Given the description of an element on the screen output the (x, y) to click on. 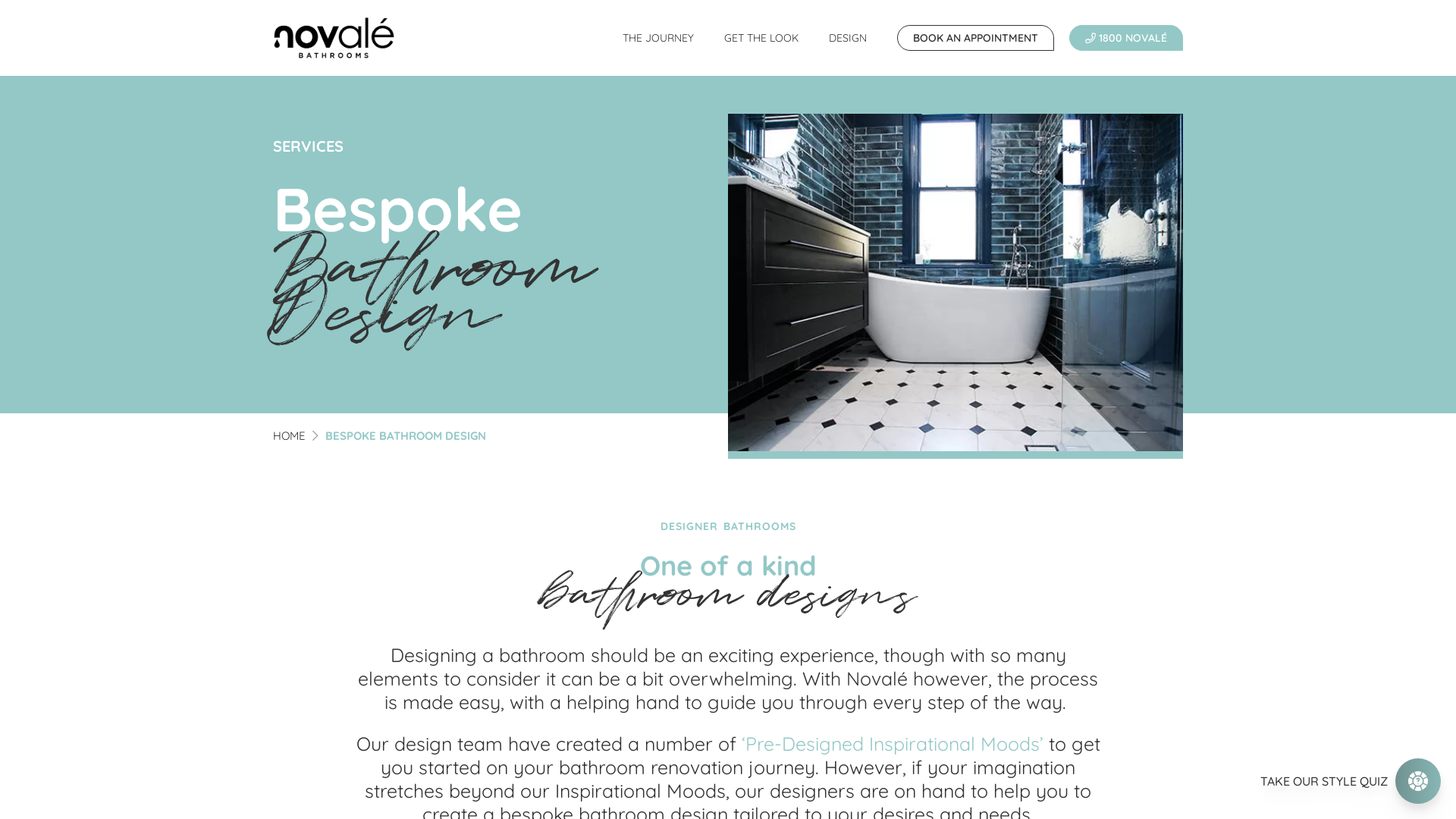
GET THE LOOK Element type: text (761, 37)
THE JOURNEY Element type: text (658, 37)
BOOK AN APPOINTMENT Element type: text (975, 37)
HOME Element type: text (289, 435)
DESIGN Element type: text (847, 37)
